Given the description of an element on the screen output the (x, y) to click on. 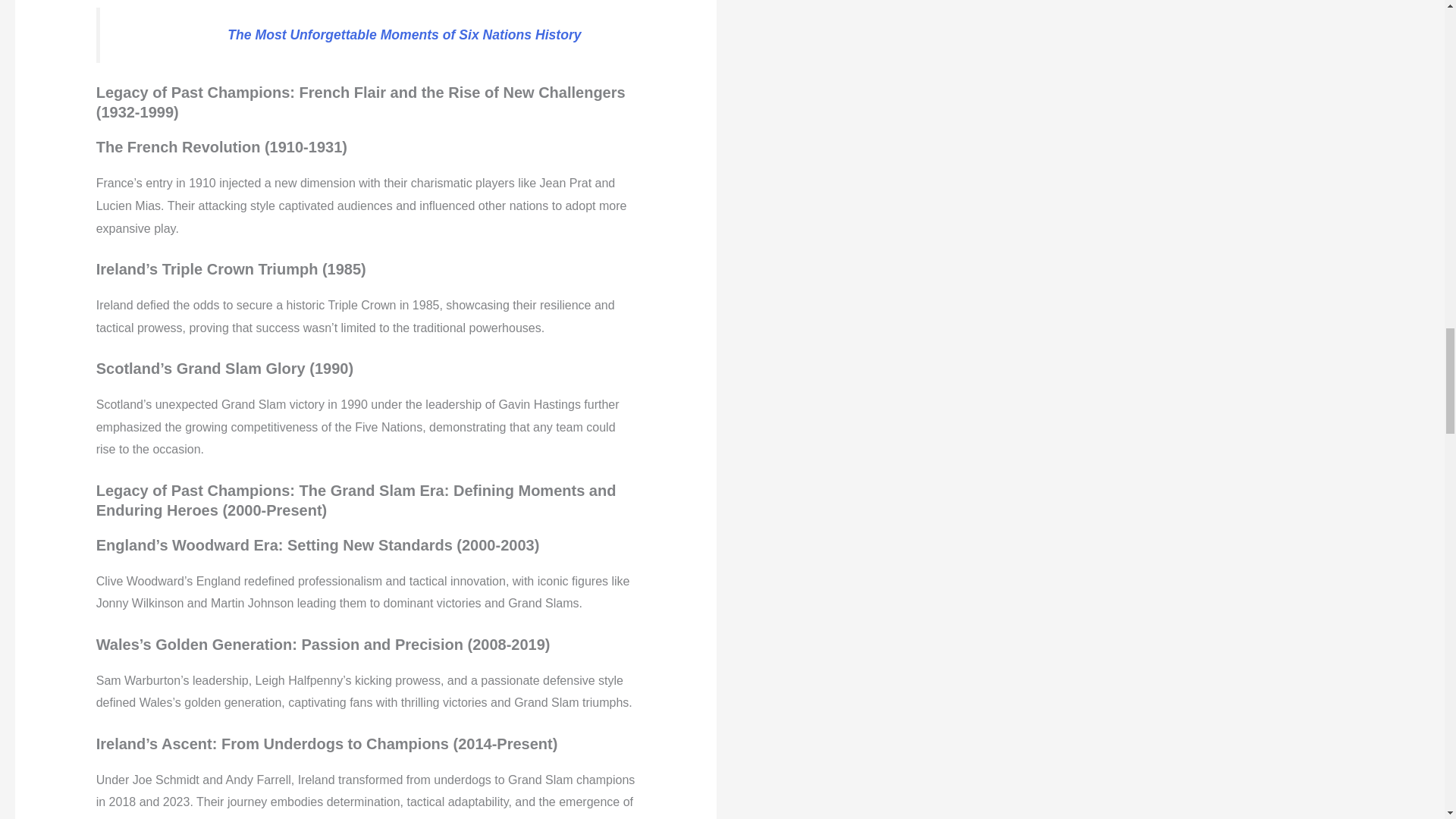
The Most Unforgettable Moments of Six Nations History (403, 34)
